Given the description of an element on the screen output the (x, y) to click on. 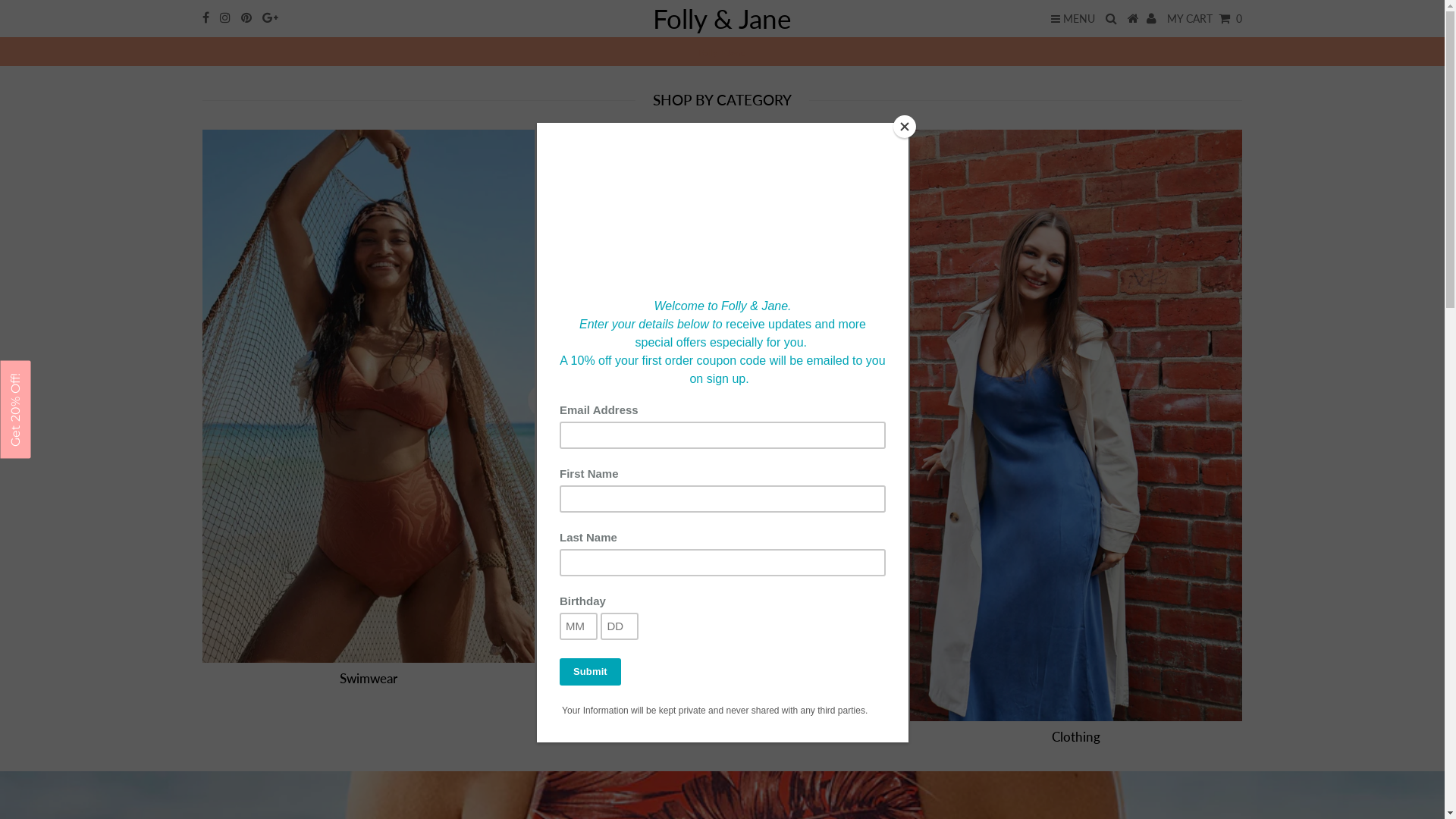
MY CART    0 Element type: text (1204, 18)
Folly + Jane Element type: text (721, 52)
